Given the description of an element on the screen output the (x, y) to click on. 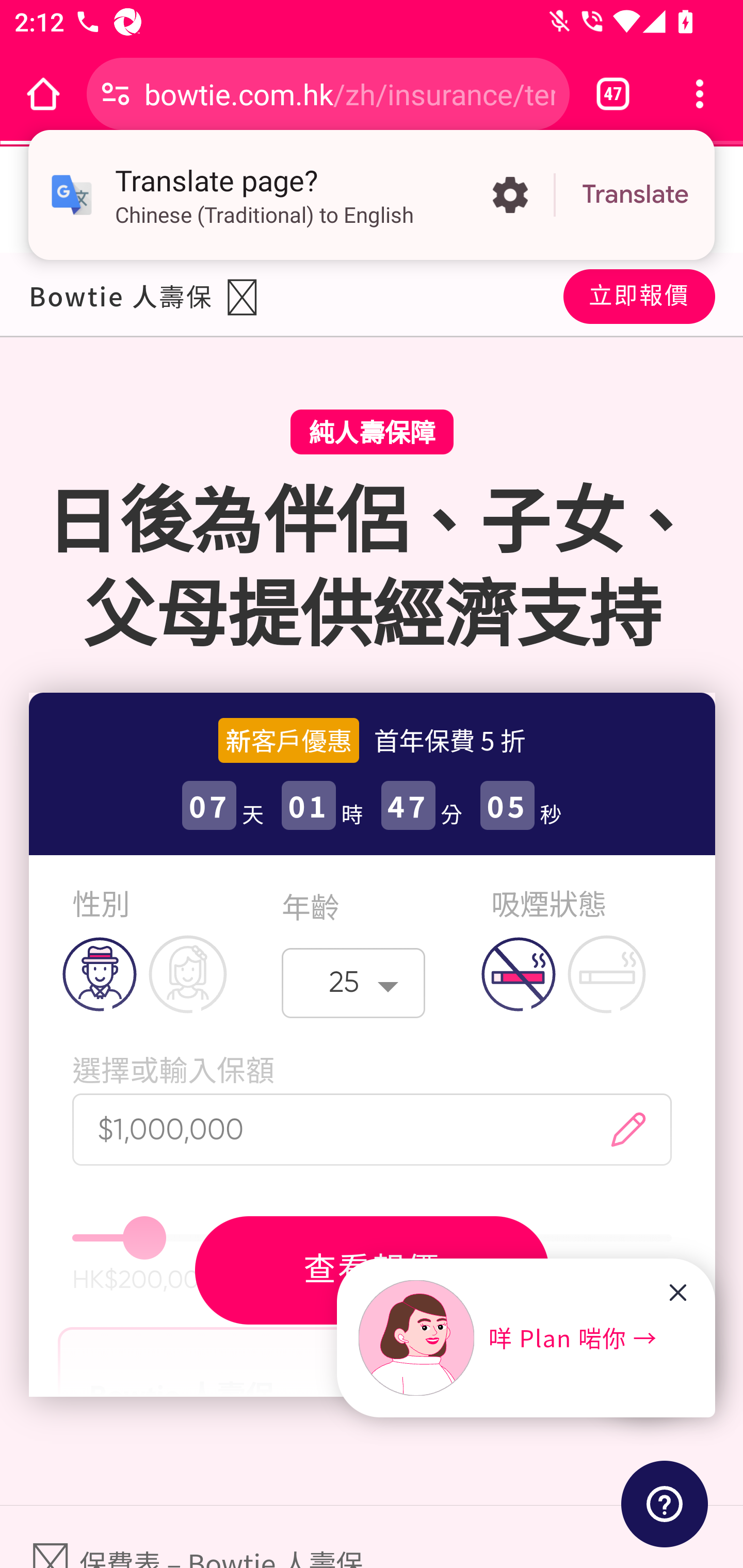
Open the home page (43, 93)
Connection is secure (115, 93)
Switch or close tabs (612, 93)
Customize and control Google Chrome (699, 93)
Translate (634, 195)
More options in the Translate page? (509, 195)
立即報價 (638, 295)
25 (353, 983)
$1,000,000 (321, 1128)
查看報價 (371, 1269)
咩 Plan 啱你 → (508, 1338)
